Given the description of an element on the screen output the (x, y) to click on. 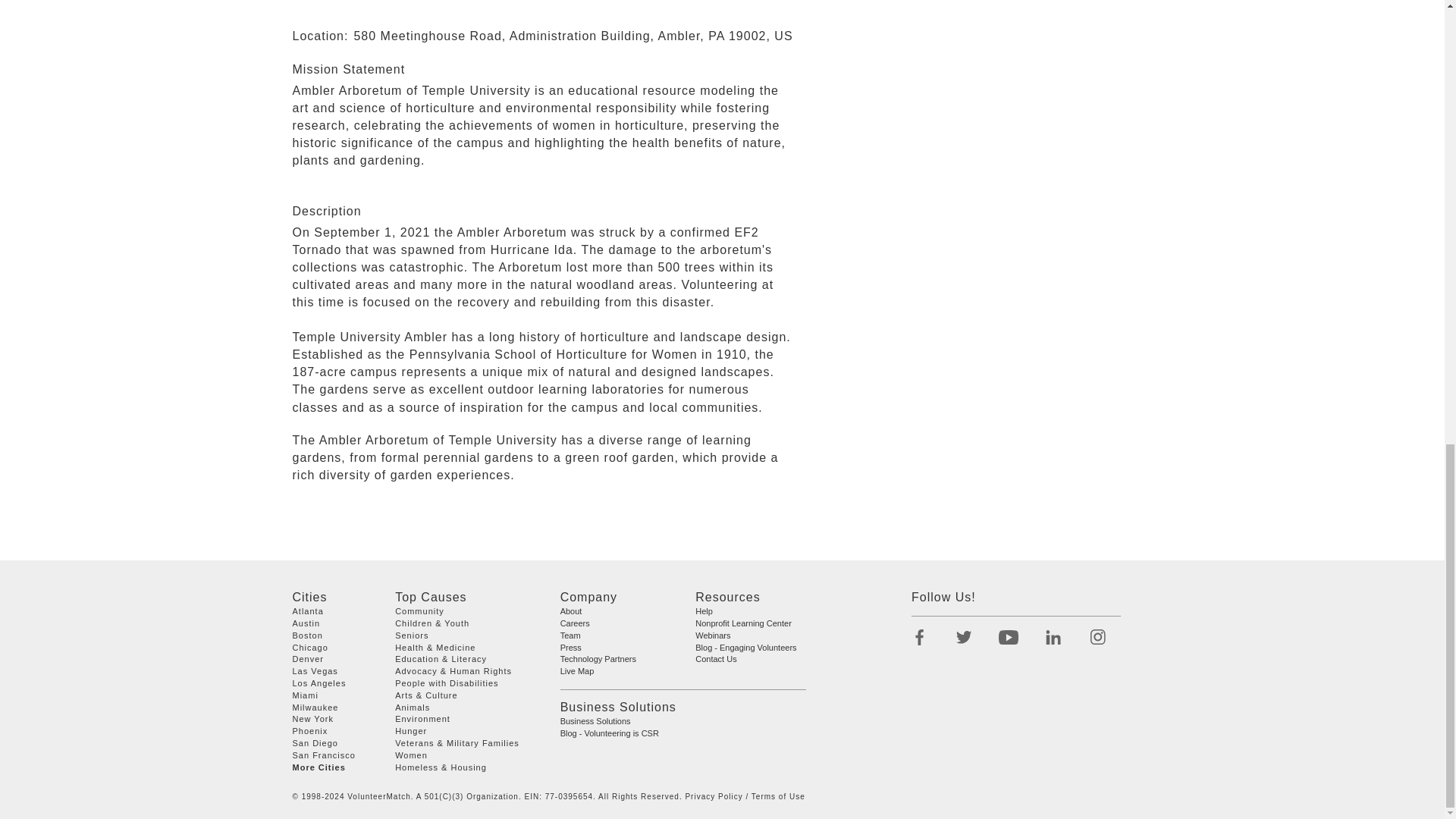
Austin (306, 623)
Atlanta (307, 610)
Denver (307, 659)
Las Vegas (314, 670)
Boston (307, 634)
Chicago (310, 646)
Los Angeles (319, 682)
